Given the description of an element on the screen output the (x, y) to click on. 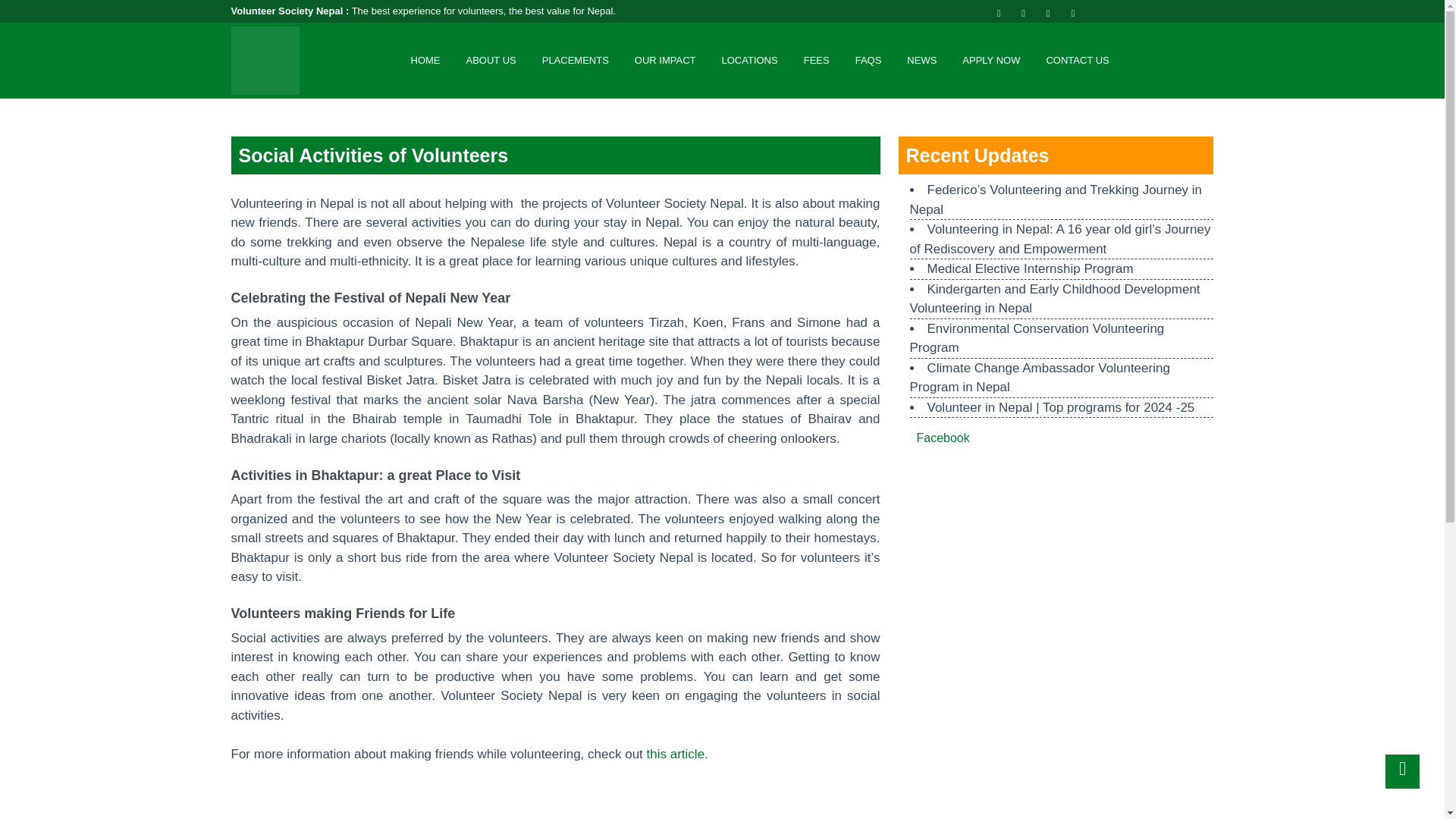
PLACEMENTS (575, 60)
HOME (424, 60)
ABOUT US (490, 60)
Our Impact (665, 60)
Apply Now (990, 60)
